Given the description of an element on the screen output the (x, y) to click on. 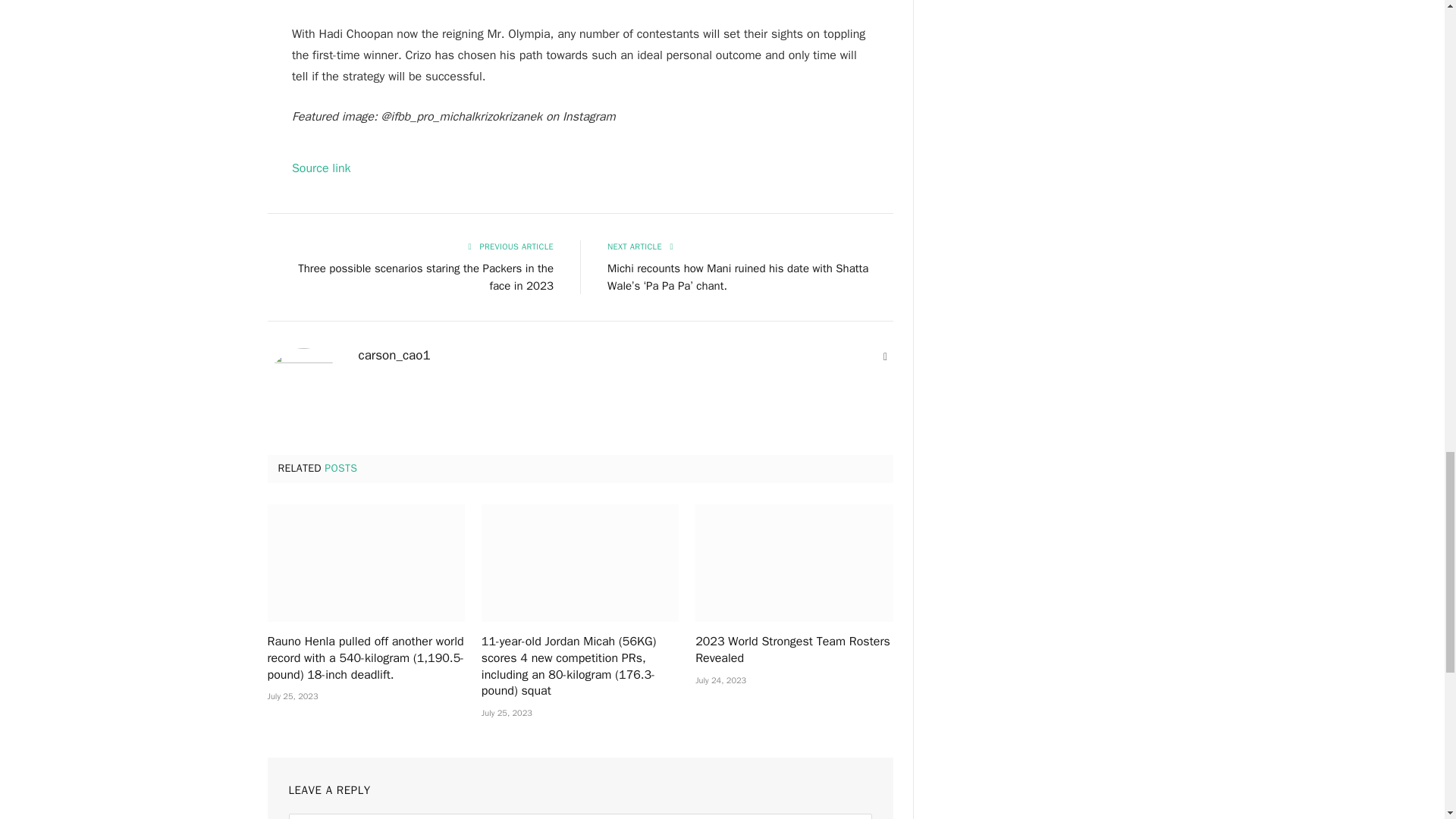
2023 World Strongest Team Rosters Revealed (793, 650)
2023 World Strongest Team Rosters Revealed (793, 562)
Source link (321, 168)
Website (885, 356)
Website (885, 356)
